Given the description of an element on the screen output the (x, y) to click on. 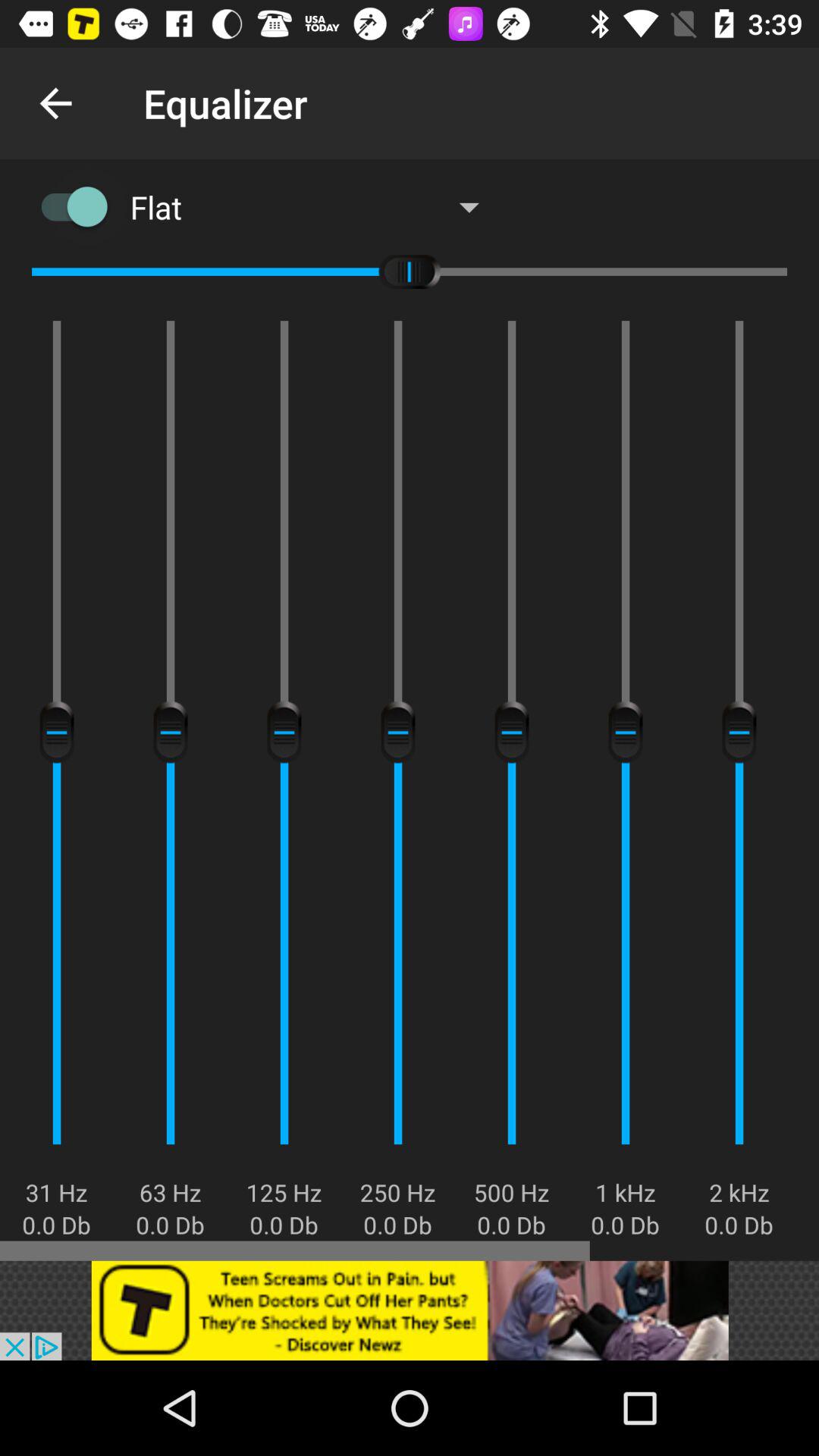
add icone (409, 1310)
